Given the description of an element on the screen output the (x, y) to click on. 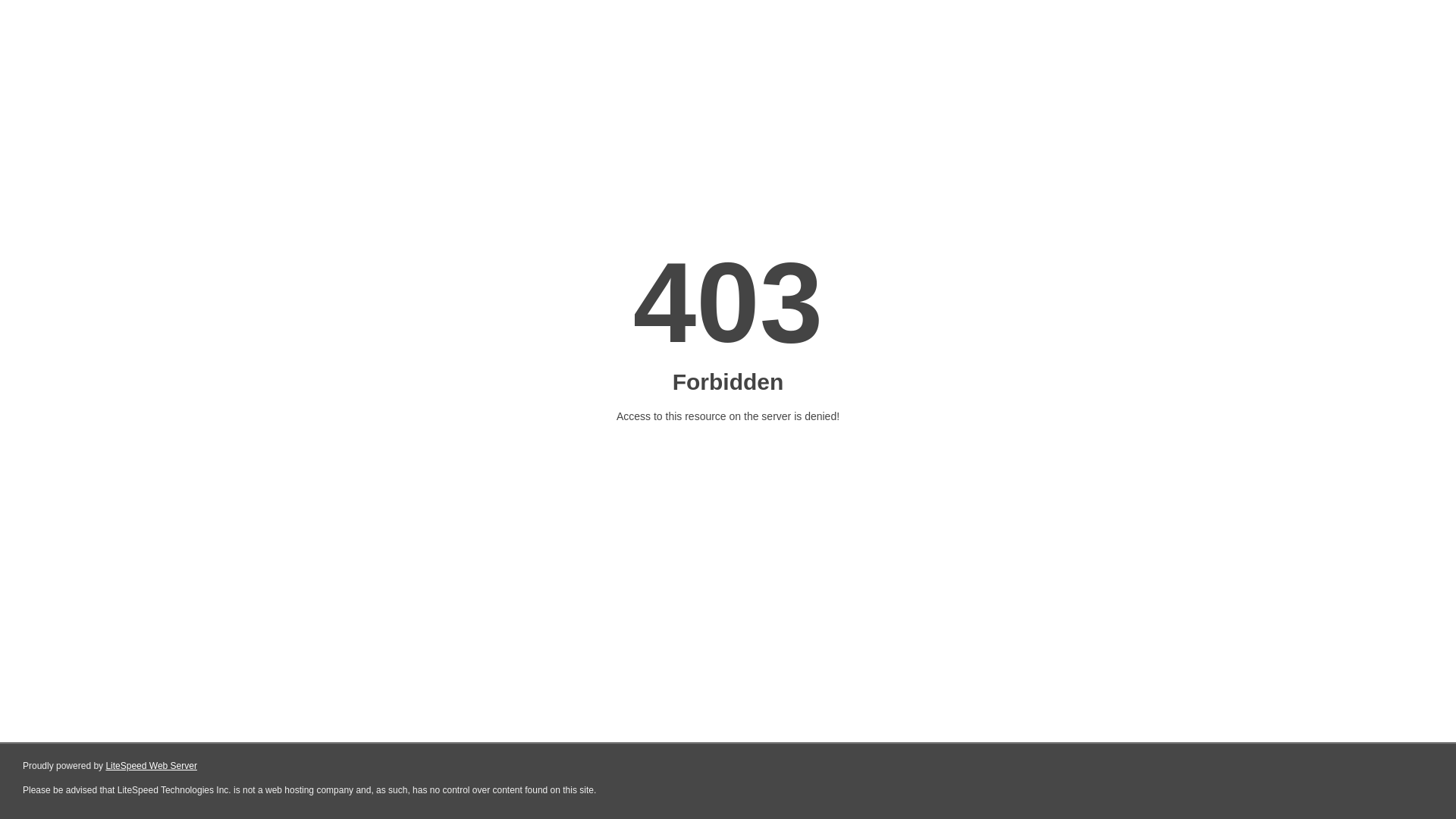
LiteSpeed Web Server (150, 765)
